Given the description of an element on the screen output the (x, y) to click on. 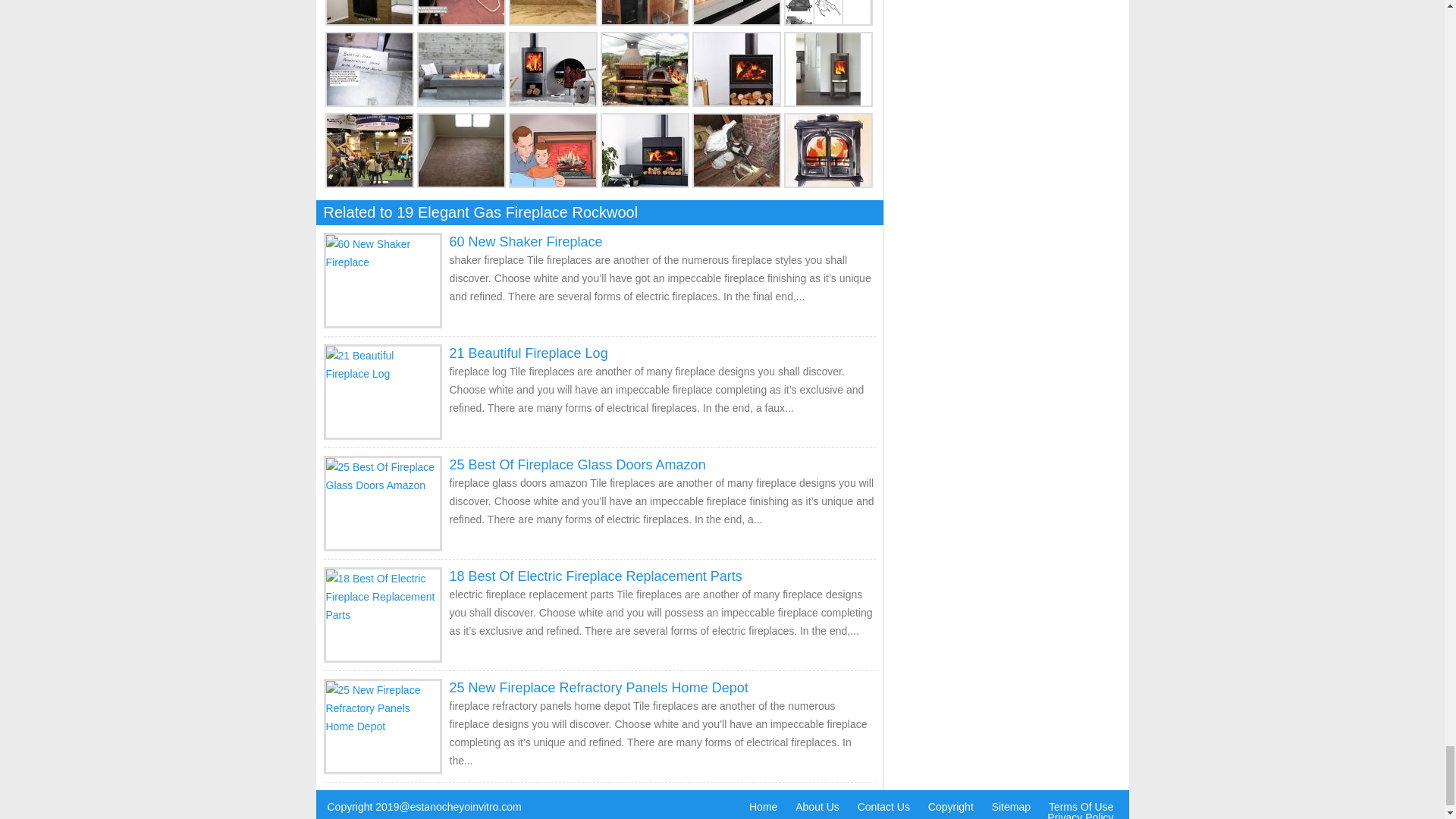
25 Best Of Fireplace Glass Doors Amazon (576, 464)
60 New Shaker Fireplace (525, 241)
21 Beautiful Fireplace Log (527, 353)
